Given the description of an element on the screen output the (x, y) to click on. 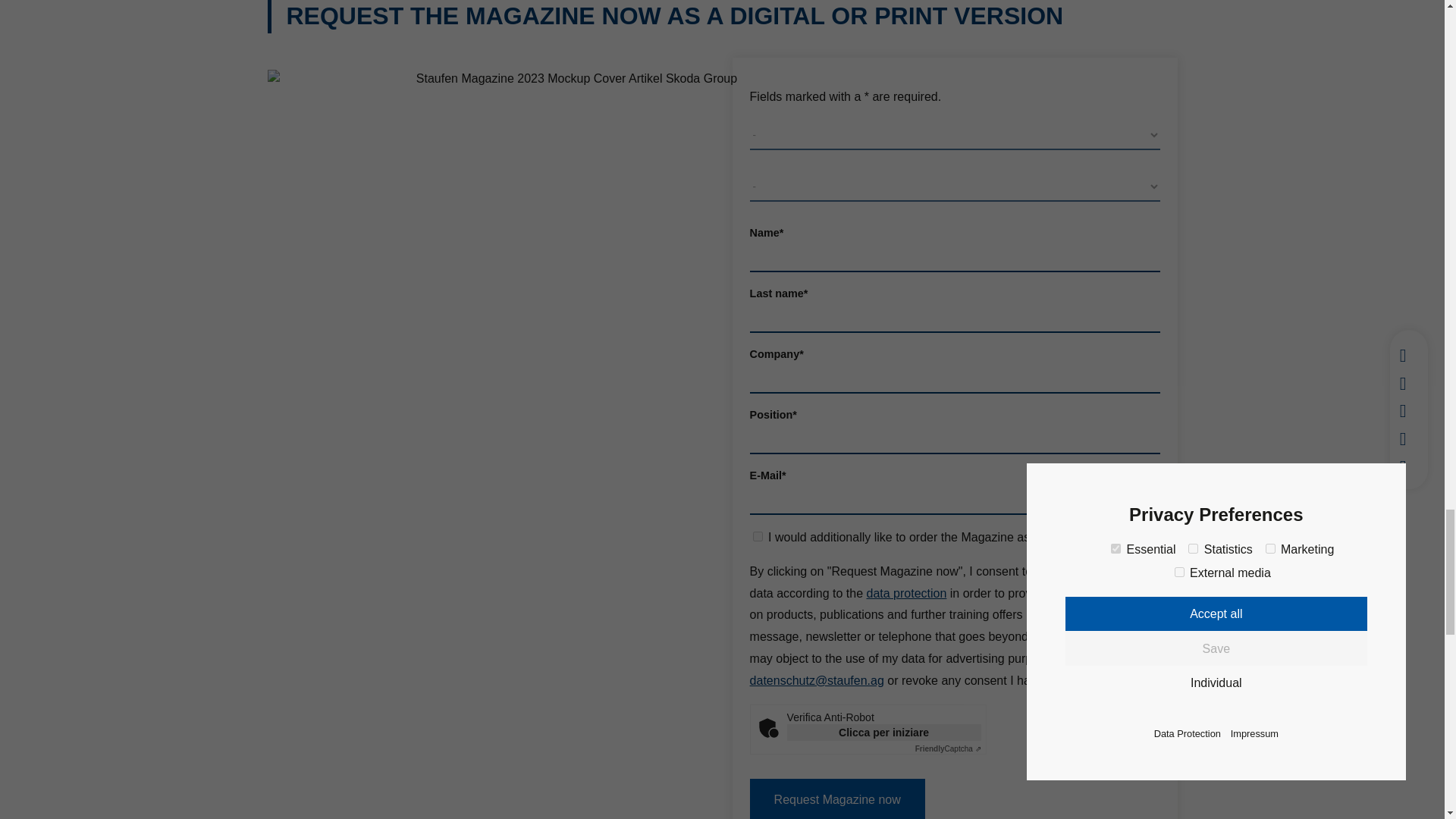
Request Magazine now (836, 798)
